Given the description of an element on the screen output the (x, y) to click on. 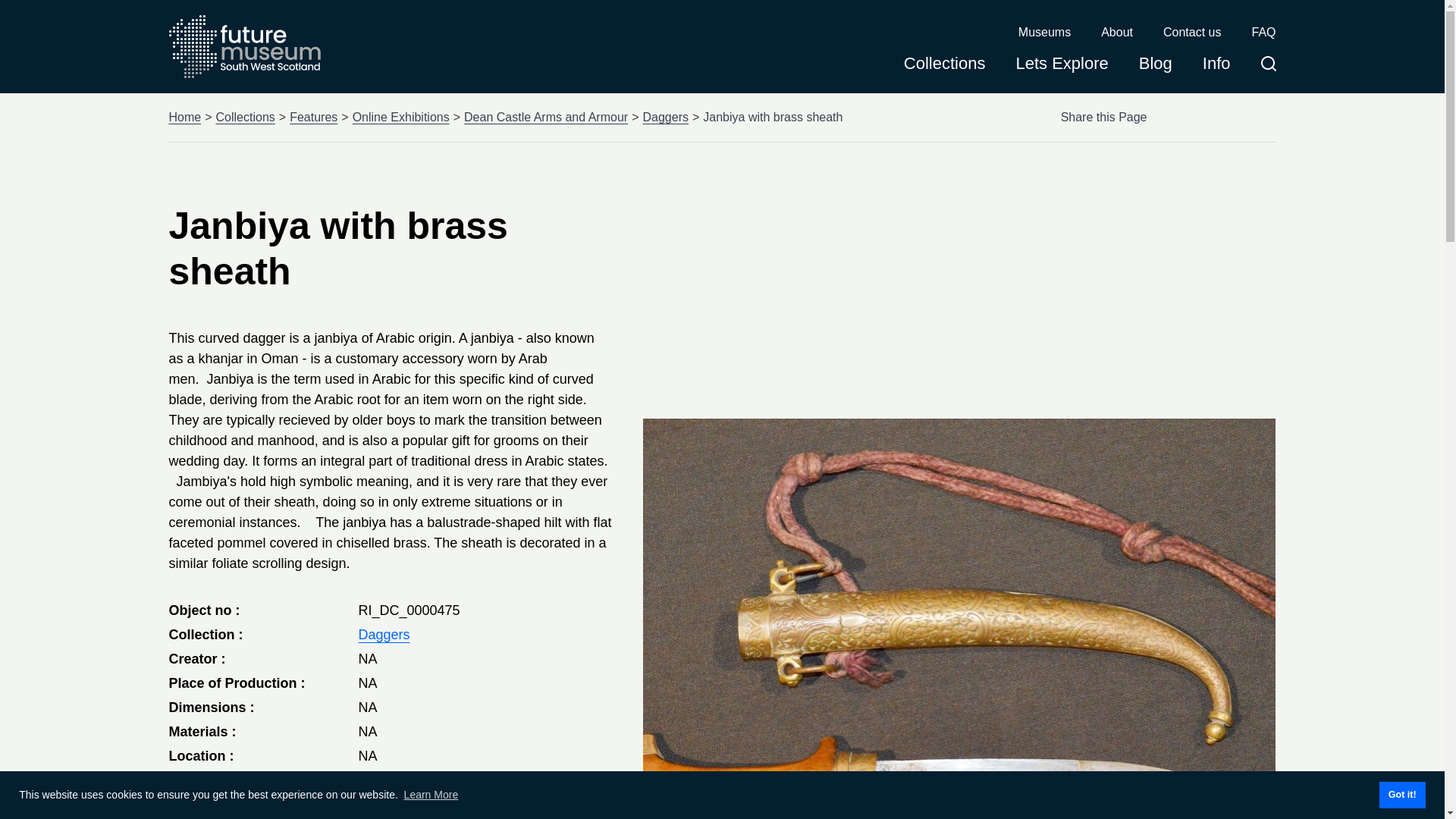
Features (313, 116)
Museums (1043, 32)
Home (184, 116)
Lets Explore (1061, 68)
Online Exhibitions (400, 116)
Learn More (431, 794)
Collections (245, 116)
Got it! (1401, 795)
Daggers (664, 116)
Daggers (383, 634)
Dean Castle Arms and Armour (545, 116)
FAQ (1262, 32)
About (1116, 32)
Mark Farm, Castle Kennedy (442, 780)
Contact us (1192, 32)
